Given the description of an element on the screen output the (x, y) to click on. 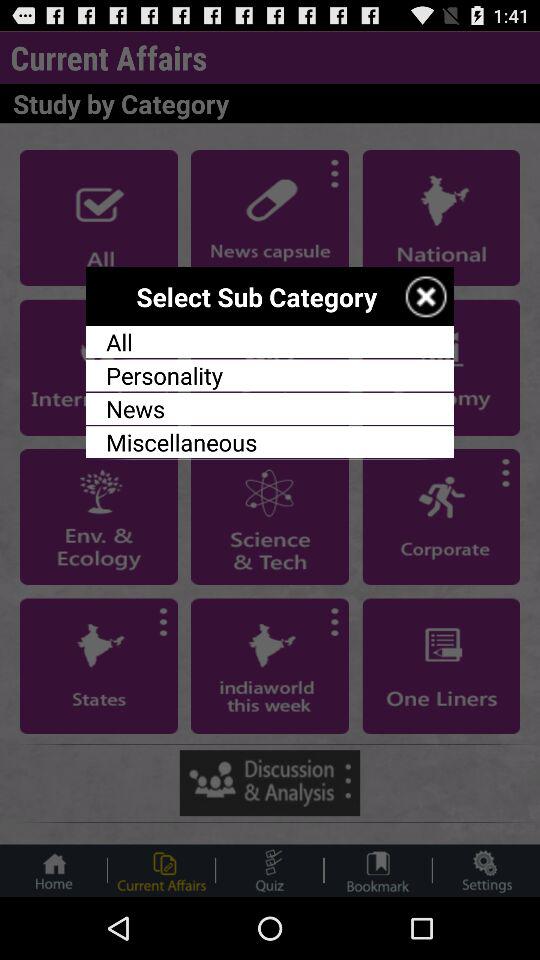
choose icon above the miscellaneous icon (269, 408)
